Given the description of an element on the screen output the (x, y) to click on. 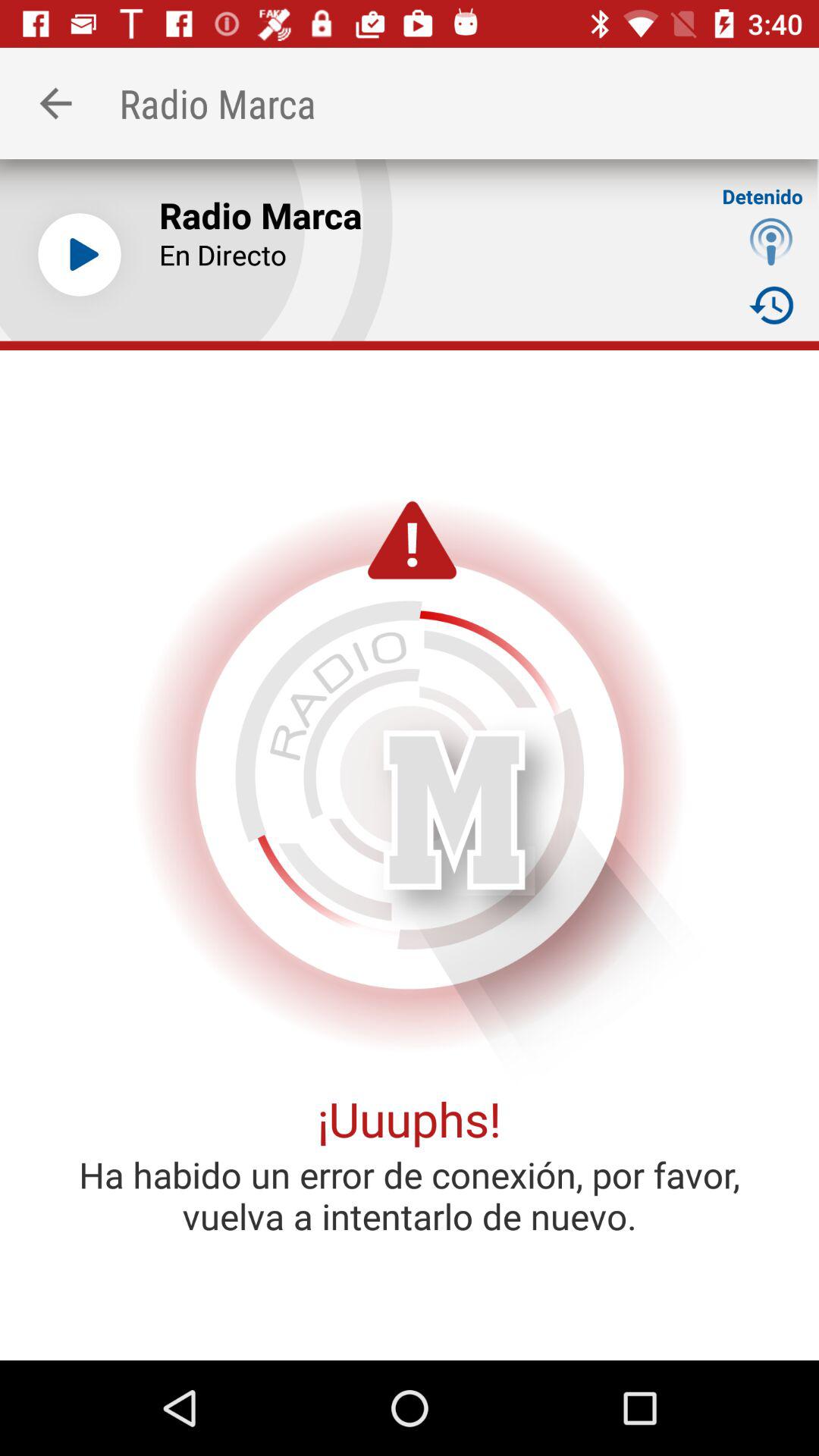
choose item below detenido (771, 241)
